Given the description of an element on the screen output the (x, y) to click on. 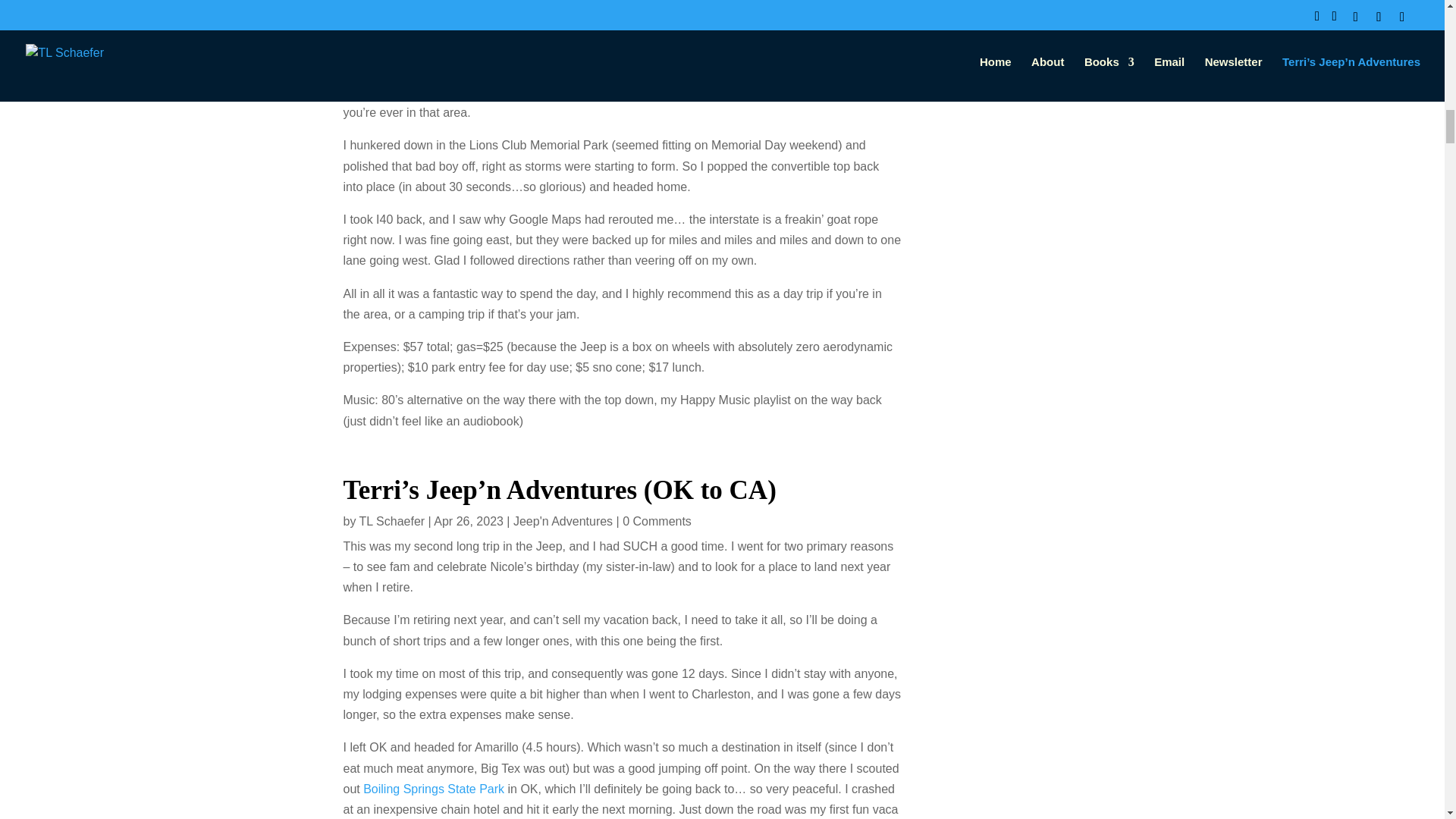
Jaques Barbeque (521, 2)
Posts by TL Schaefer (392, 521)
Jeep'n Adventures (562, 521)
TL Schaefer (392, 521)
Boiling Springs State Park (432, 788)
